Given the description of an element on the screen output the (x, y) to click on. 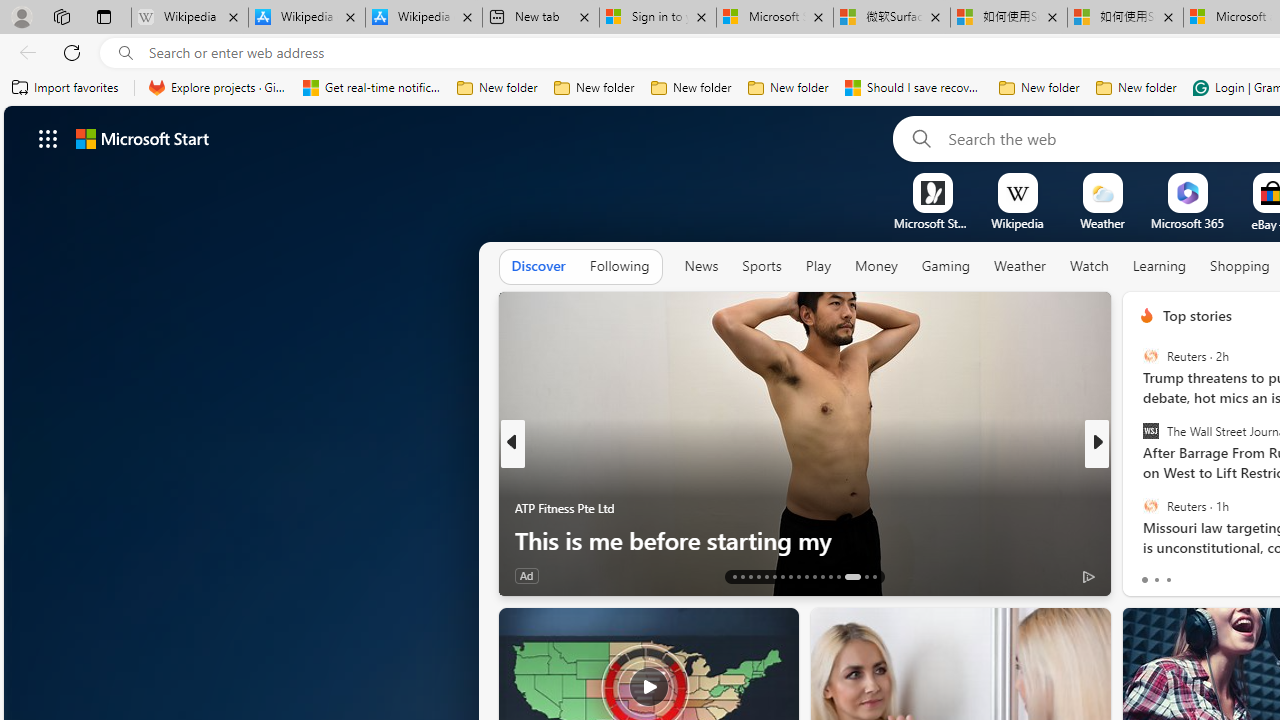
AutomationID: tab-24 (821, 576)
ATP Fitness Pte Ltd (564, 507)
Sign in to your Microsoft account (657, 17)
To get missing image descriptions, open the context menu. (932, 192)
AutomationID: tab-15 (750, 576)
Play (818, 267)
90 Like (1149, 574)
Weather (1020, 265)
MUO (1138, 507)
AutomationID: tab-25 (829, 576)
The Wall Street Journal (1149, 431)
Watch (1089, 265)
AutomationID: tab-26 (838, 576)
